Given the description of an element on the screen output the (x, y) to click on. 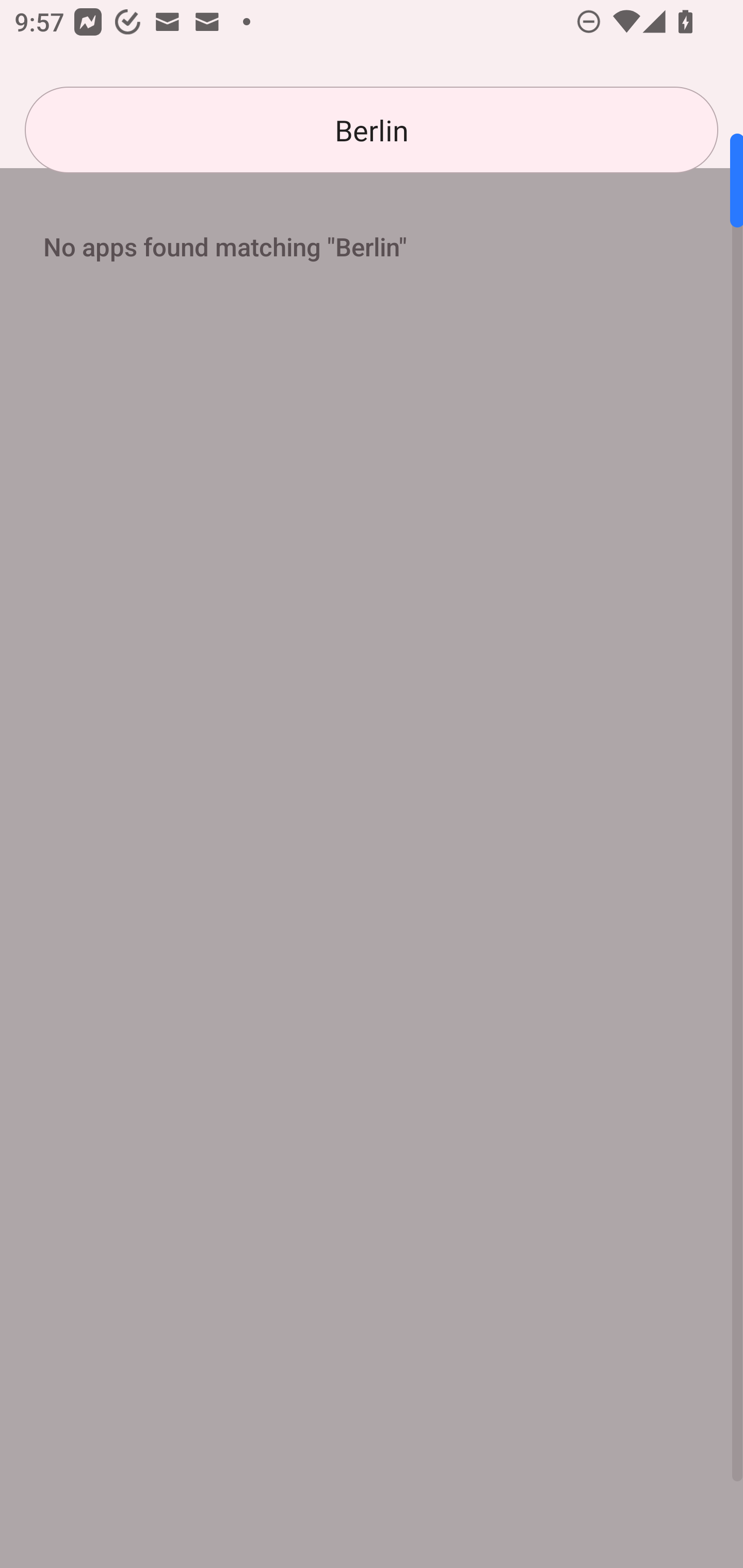
Berlin (371, 130)
